Given the description of an element on the screen output the (x, y) to click on. 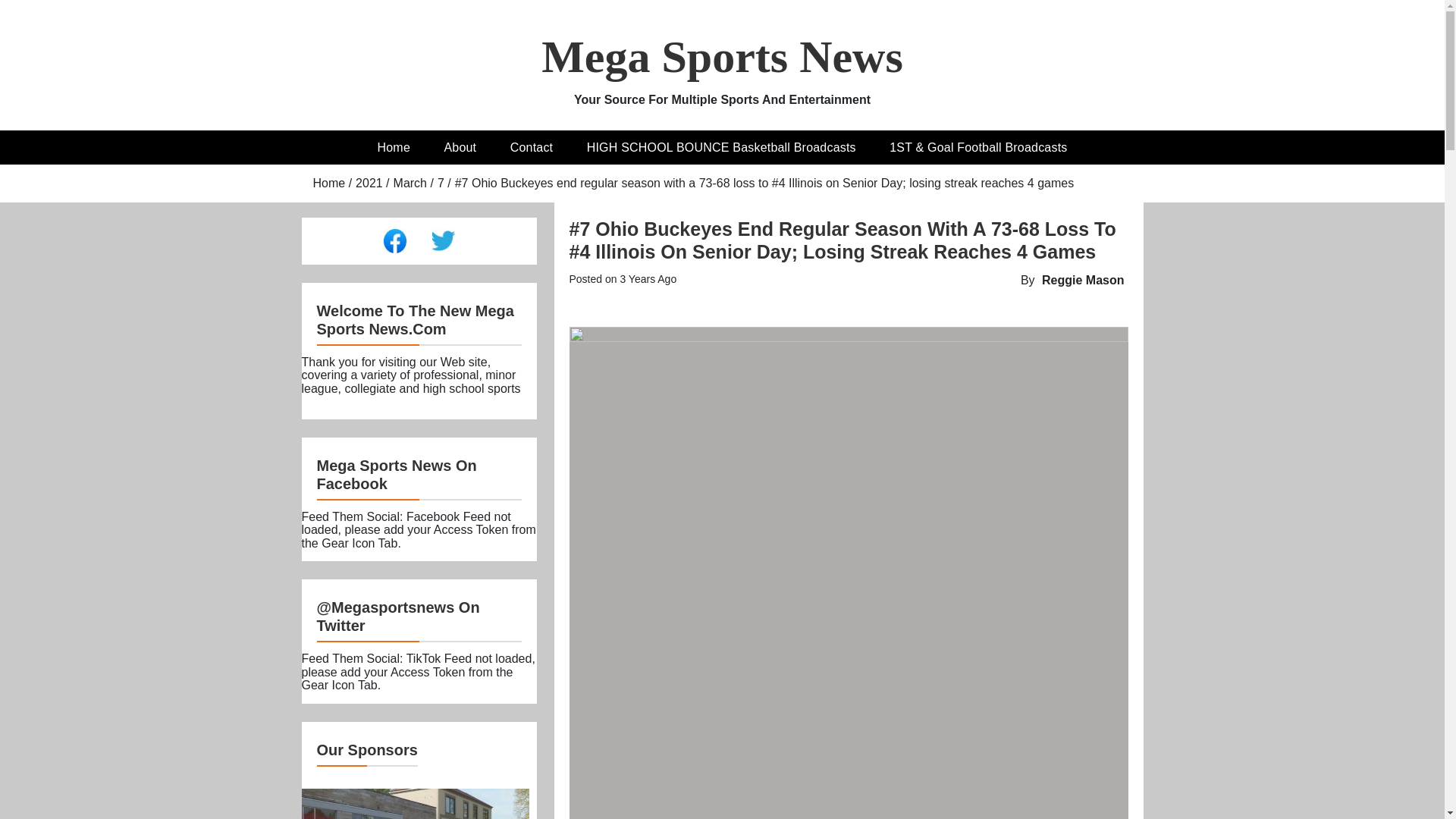
HIGH SCHOOL BOUNCE Basketball Broadcasts (721, 147)
Contact (532, 147)
Mega Sports News (721, 56)
Home (393, 147)
Home (329, 182)
March (409, 182)
2021 (368, 182)
3 Years Ago (648, 278)
About (460, 147)
Reggie Mason (1083, 279)
